Given the description of an element on the screen output the (x, y) to click on. 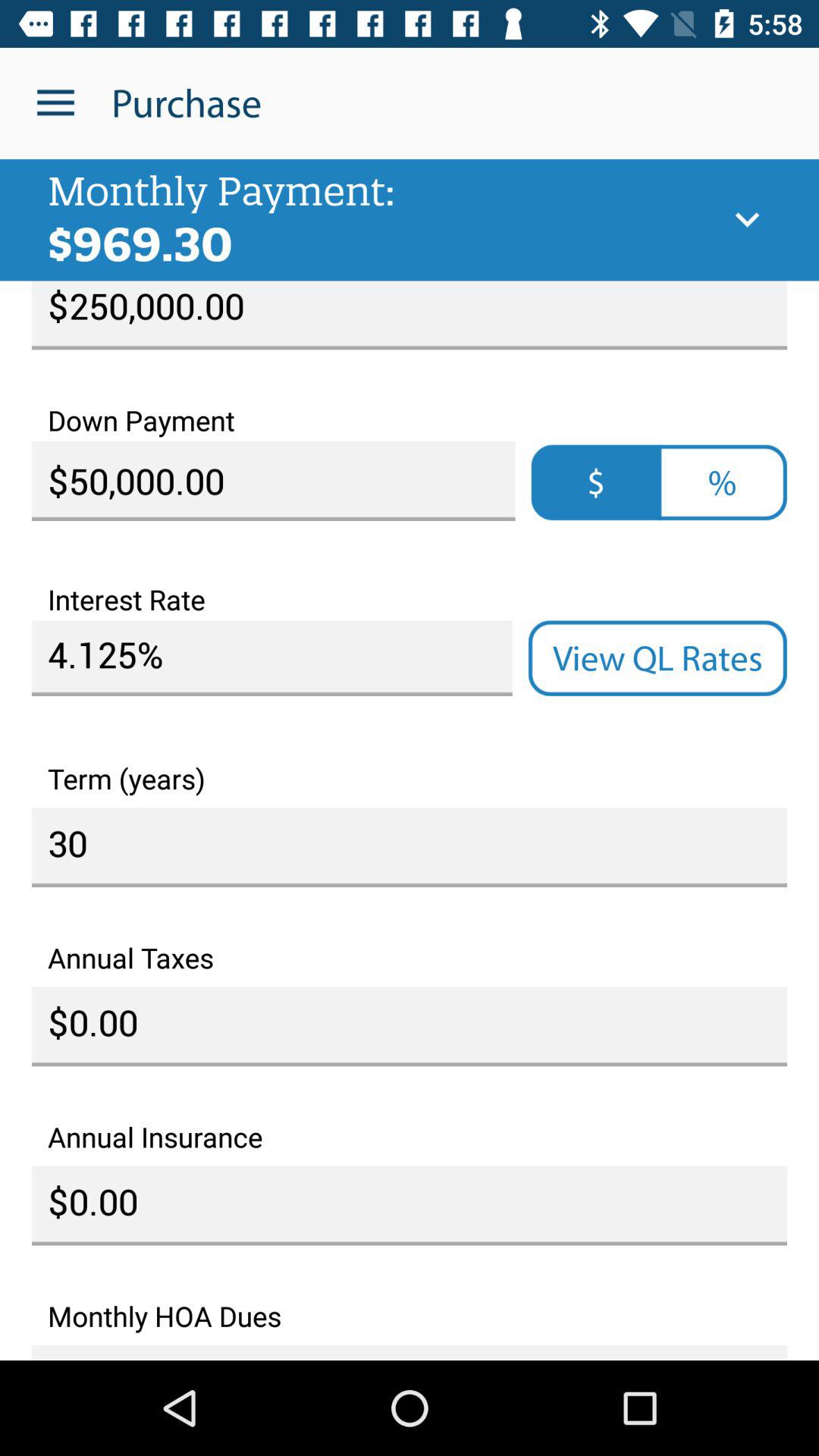
press the item to the right of the 4.125% item (657, 658)
